Given the description of an element on the screen output the (x, y) to click on. 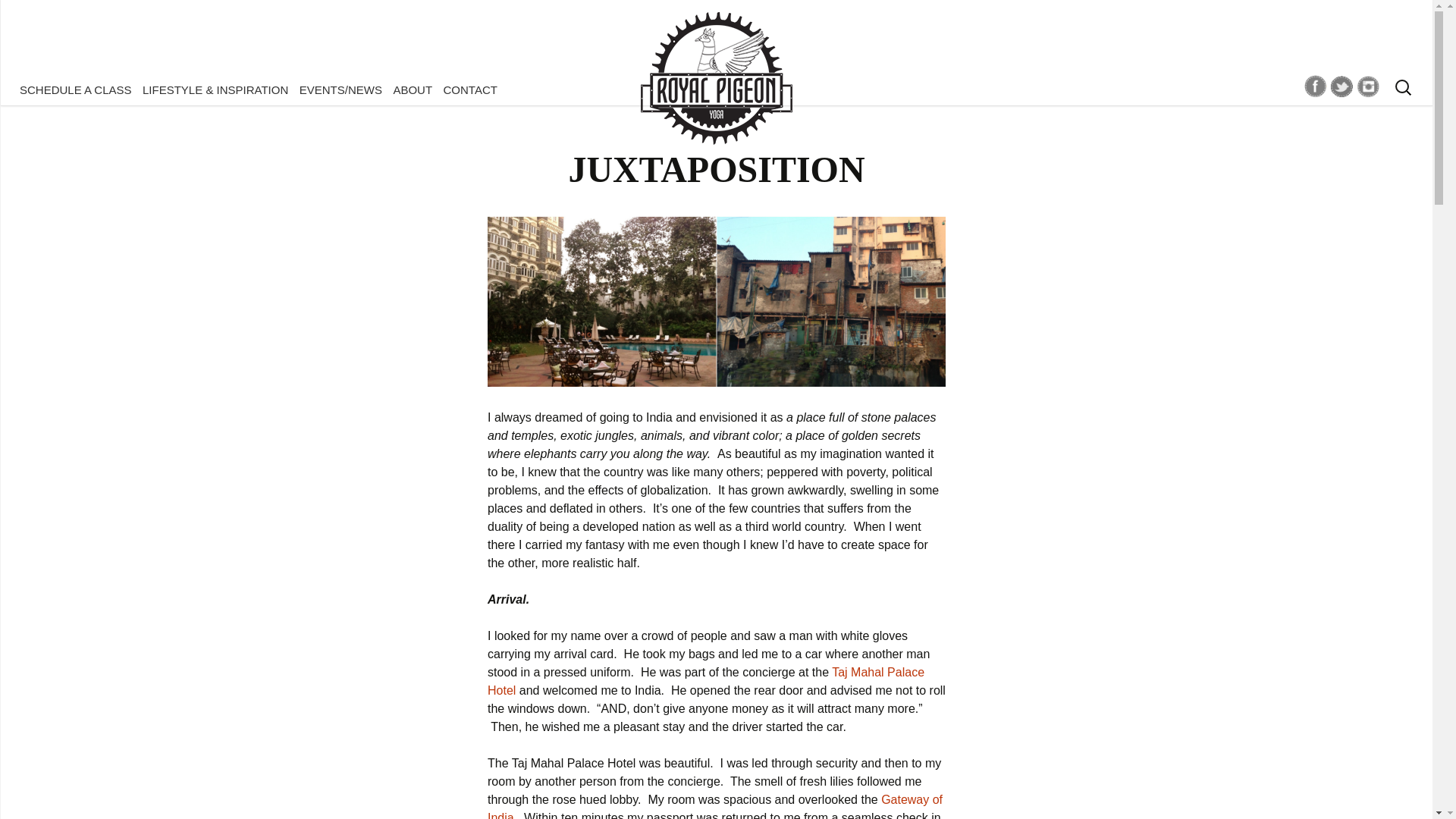
Search (18, 15)
Taj Mahal Palace Hotel (705, 680)
CONTACT (469, 89)
SCHEDULE A CLASS (75, 89)
Skip to content (56, 89)
ABOUT (411, 89)
Gateway of India (714, 806)
Skip to content (56, 89)
